Given the description of an element on the screen output the (x, y) to click on. 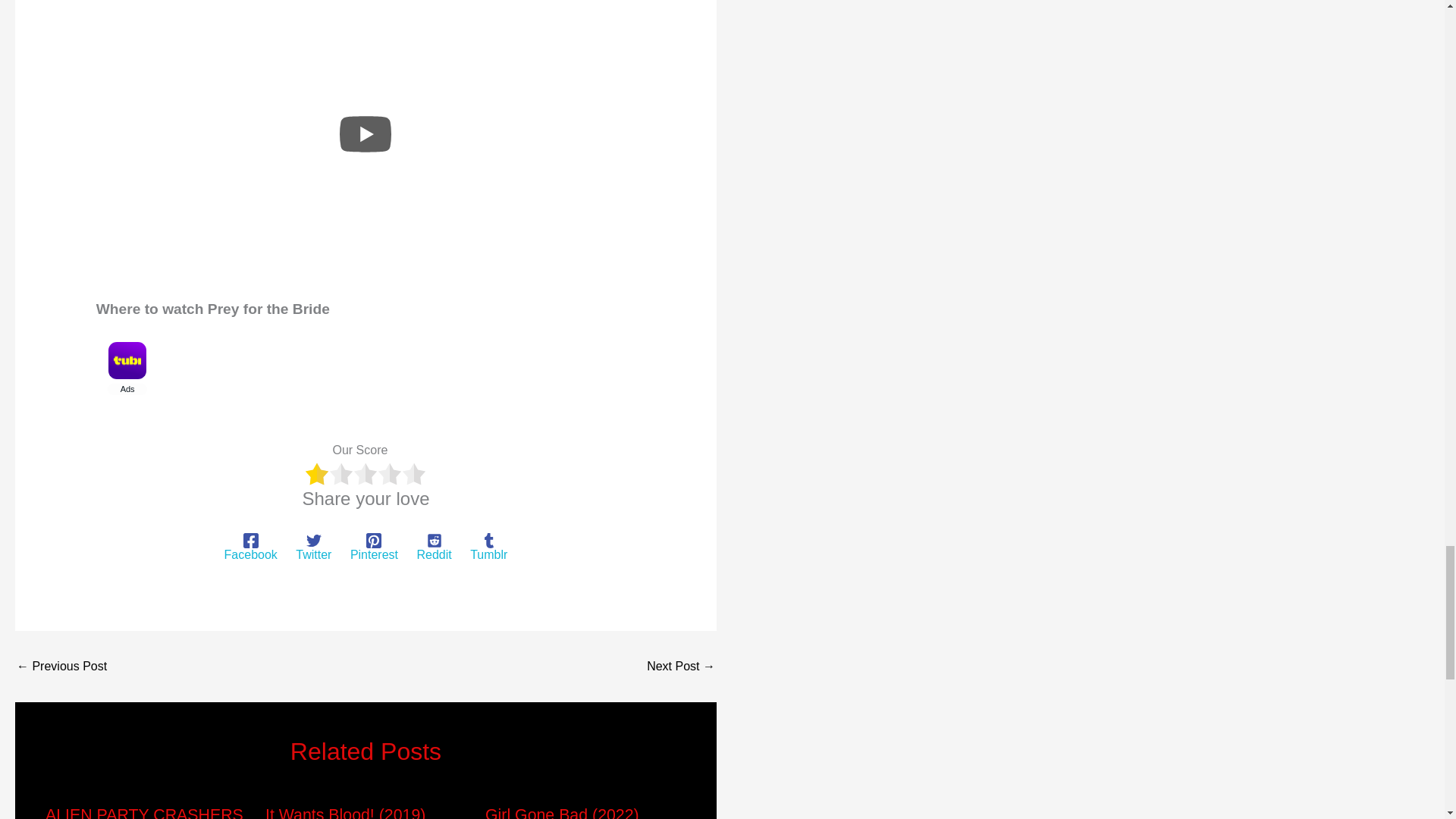
Tumblr (488, 547)
Facebook (251, 547)
Reddit (433, 547)
Twitter (313, 547)
Powered by JustWatch (145, 420)
Pinterest (373, 547)
